Given the description of an element on the screen output the (x, y) to click on. 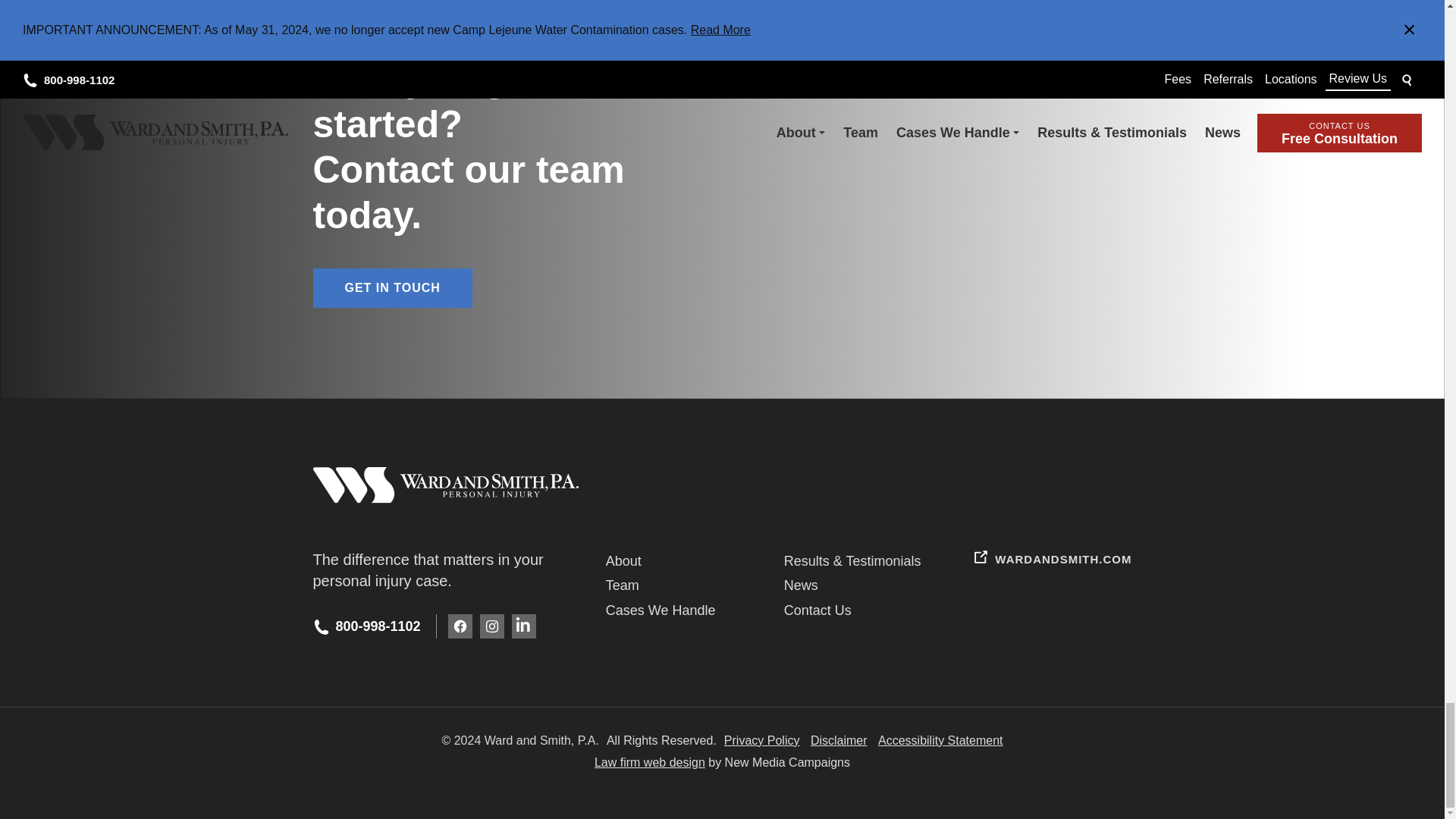
instagram (491, 626)
linkedin (523, 626)
facebook (459, 626)
EXTERNAL LINK (980, 556)
